Given the description of an element on the screen output the (x, y) to click on. 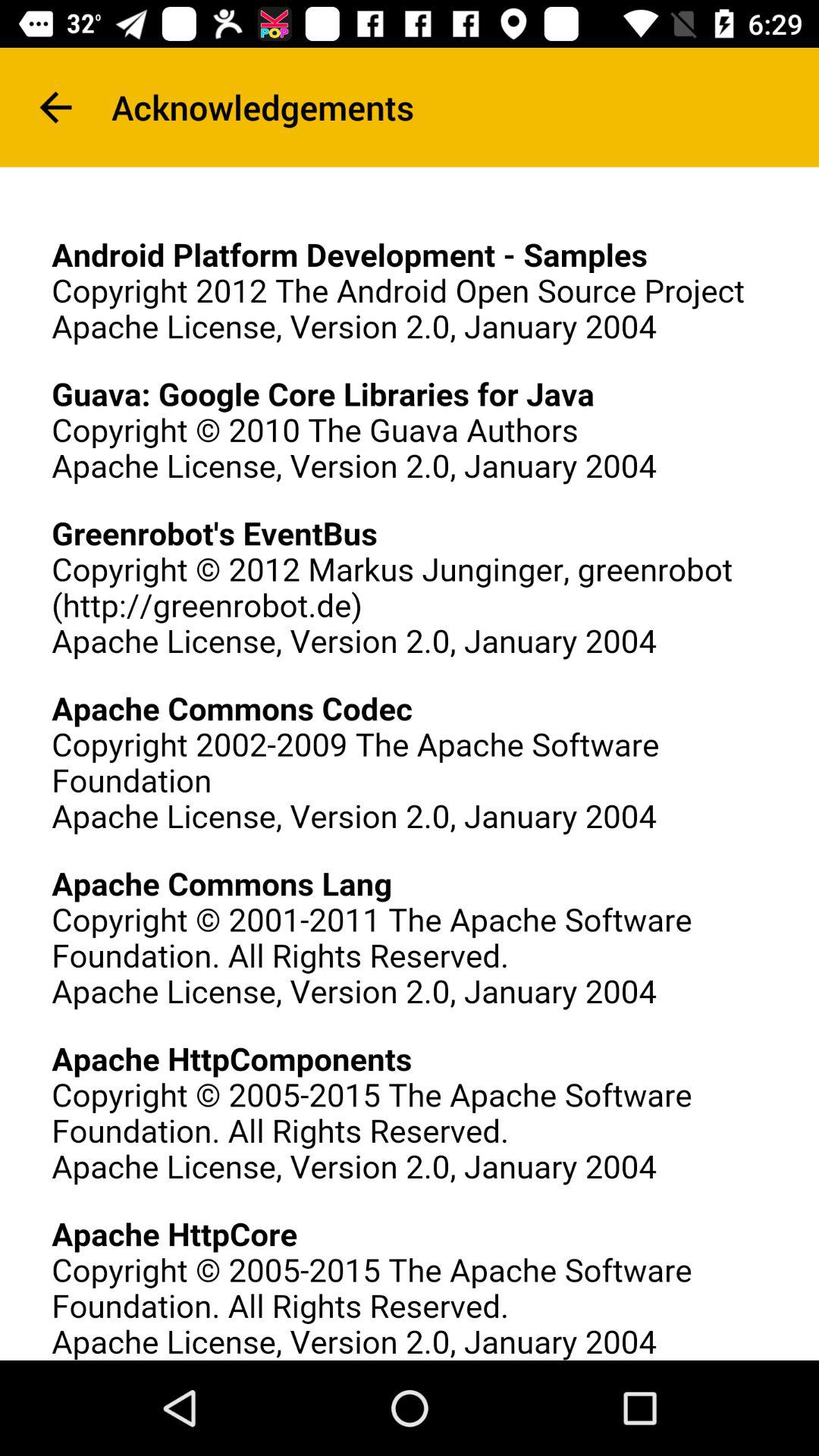
click the icon to the left of acknowledgements icon (55, 107)
